Given the description of an element on the screen output the (x, y) to click on. 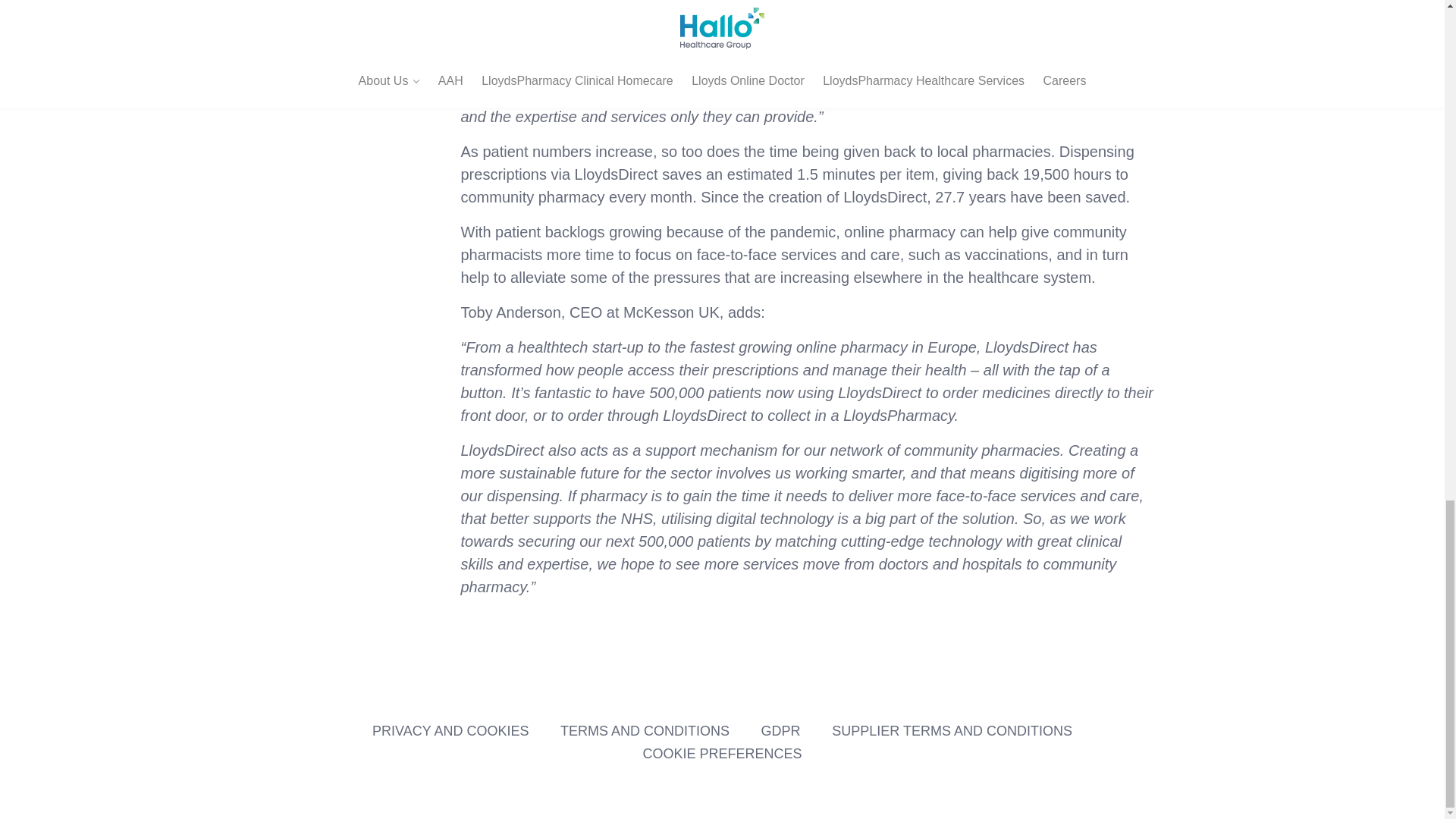
SUPPLIER TERMS AND CONDITIONS (951, 730)
PRIVACY AND COOKIES (450, 730)
GDPR (780, 730)
TERMS AND CONDITIONS (644, 730)
COOKIE PREFERENCES (722, 753)
